Given the description of an element on the screen output the (x, y) to click on. 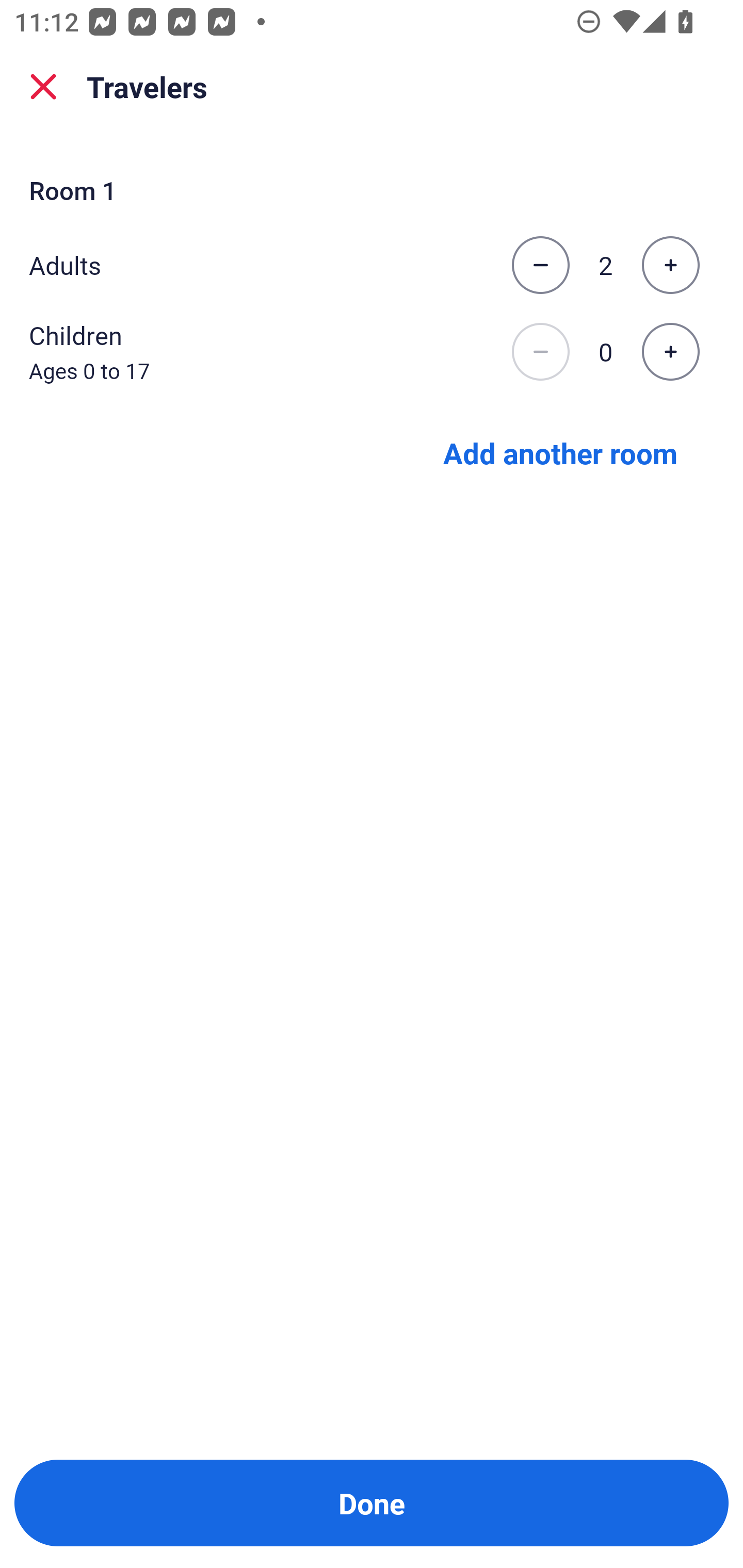
close (43, 86)
Decrease the number of adults (540, 264)
Increase the number of adults (670, 264)
Decrease the number of children (540, 351)
Increase the number of children (670, 351)
Add another room (560, 452)
Done (371, 1502)
